Given the description of an element on the screen output the (x, y) to click on. 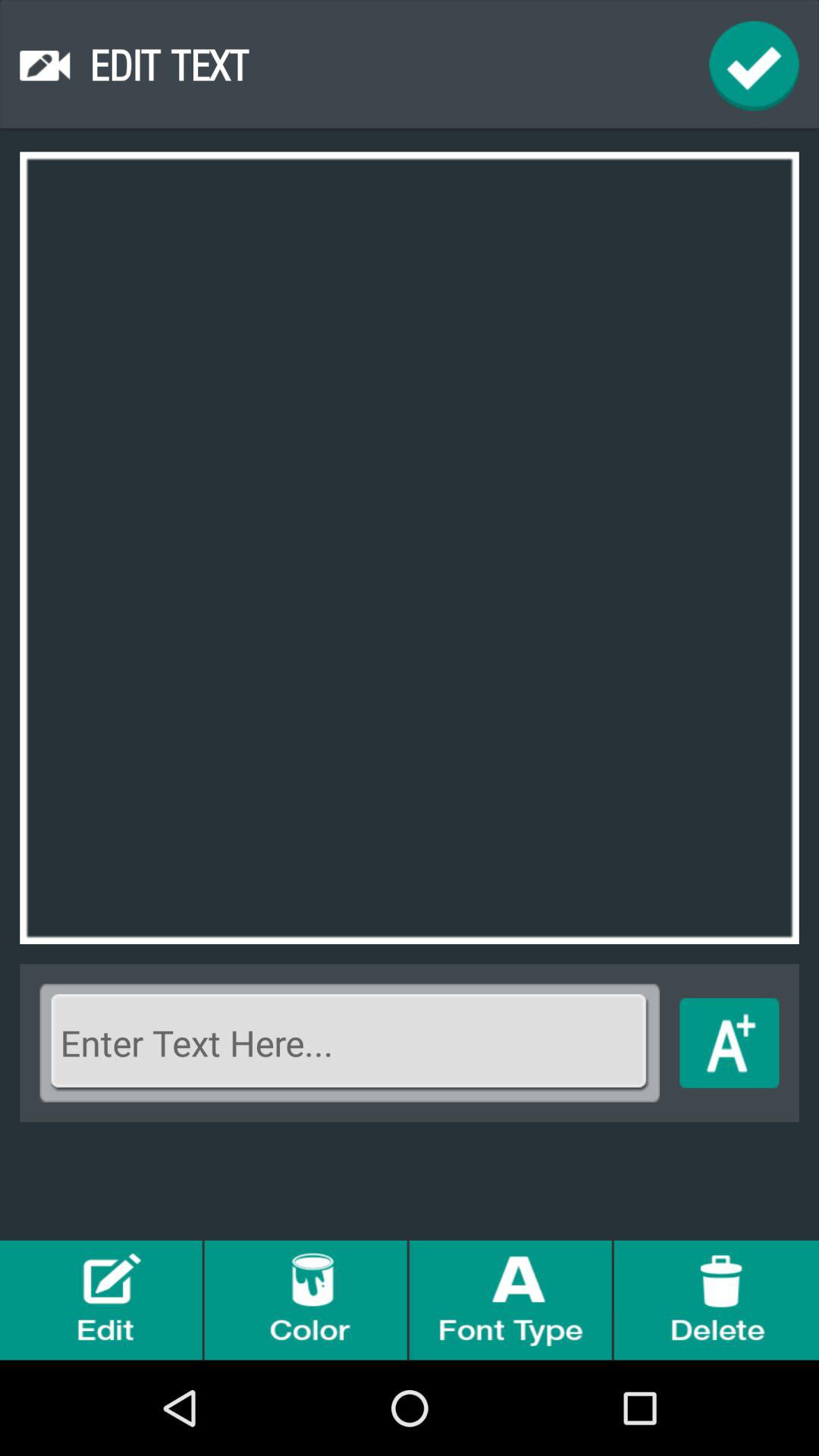
enter text (349, 1043)
